Given the description of an element on the screen output the (x, y) to click on. 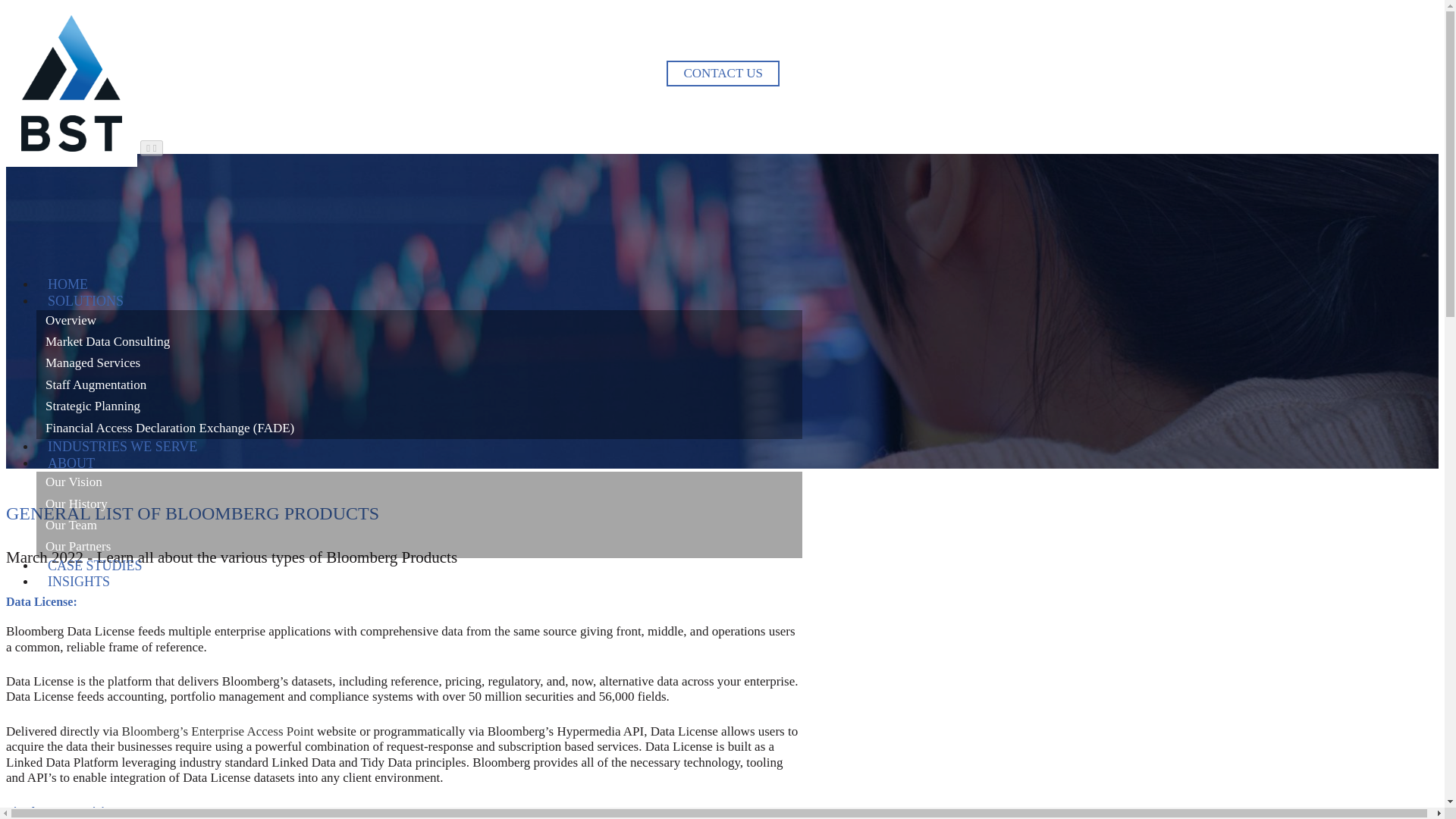
Market Data Consulting (419, 341)
Managed Services (419, 362)
ABOUT (71, 463)
Our Vision (419, 482)
Our History (419, 503)
INSIGHTS (78, 581)
Our Team (419, 525)
SOLUTIONS (85, 300)
INDUSTRIES WE SERVE (122, 446)
CONTACT US (722, 73)
Overview (419, 320)
HOME (67, 284)
Staff Augmentation (419, 384)
CASE STUDIES (95, 565)
Strategic Planning (419, 405)
